Given the description of an element on the screen output the (x, y) to click on. 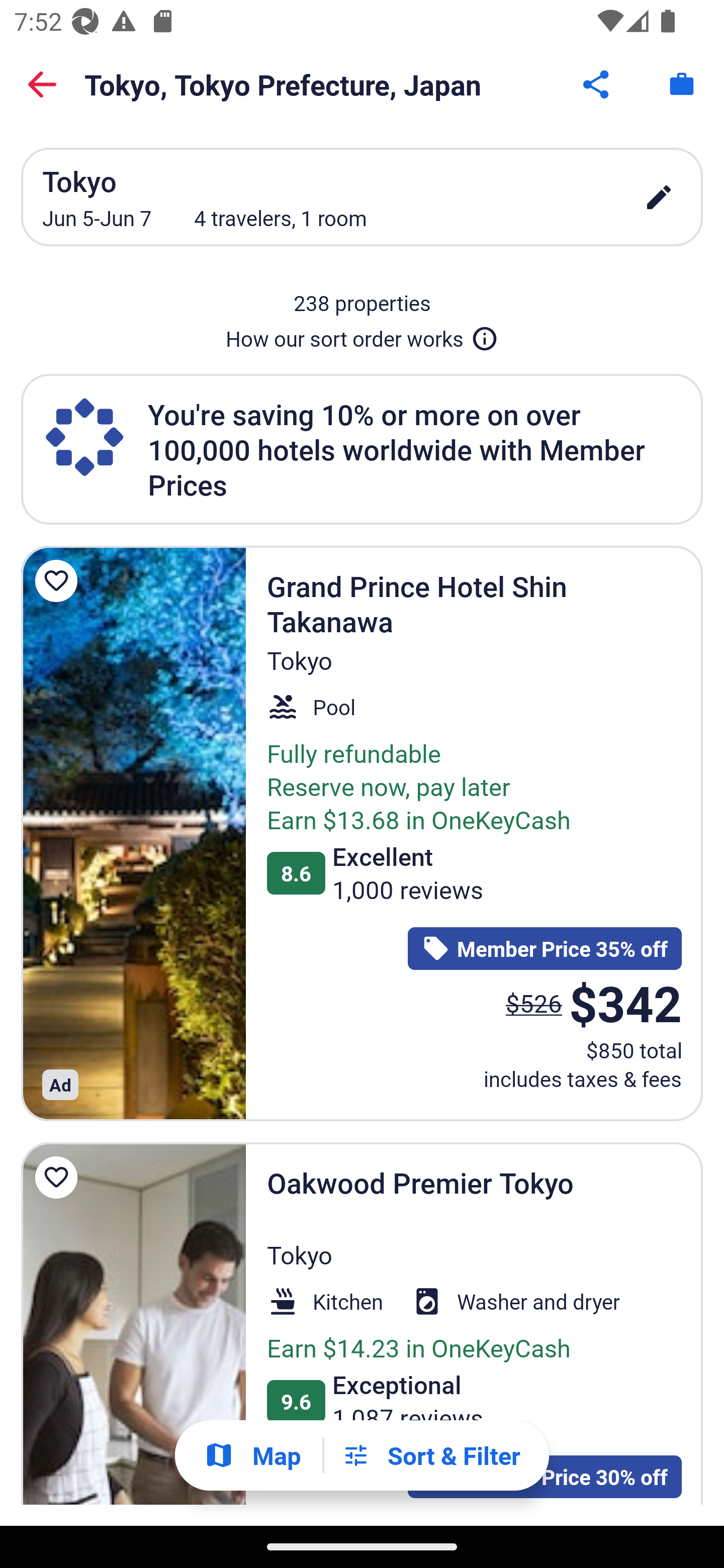
Back (42, 84)
Share Button (597, 84)
Trips. Button (681, 84)
Tokyo Jun 5-Jun 7 4 travelers, 1 room edit (361, 196)
How our sort order works (361, 334)
Save Grand Prince Hotel Shin Takanawa to a trip (59, 580)
Grand Prince Hotel Shin Takanawa (133, 833)
$526 The price was $526 (533, 1003)
Save Oakwood Premier Tokyo to a trip (59, 1177)
Oakwood Premier Tokyo (133, 1324)
Filters Sort & Filter Filters Button (430, 1455)
Show map Map Show map Button (252, 1455)
